Given the description of an element on the screen output the (x, y) to click on. 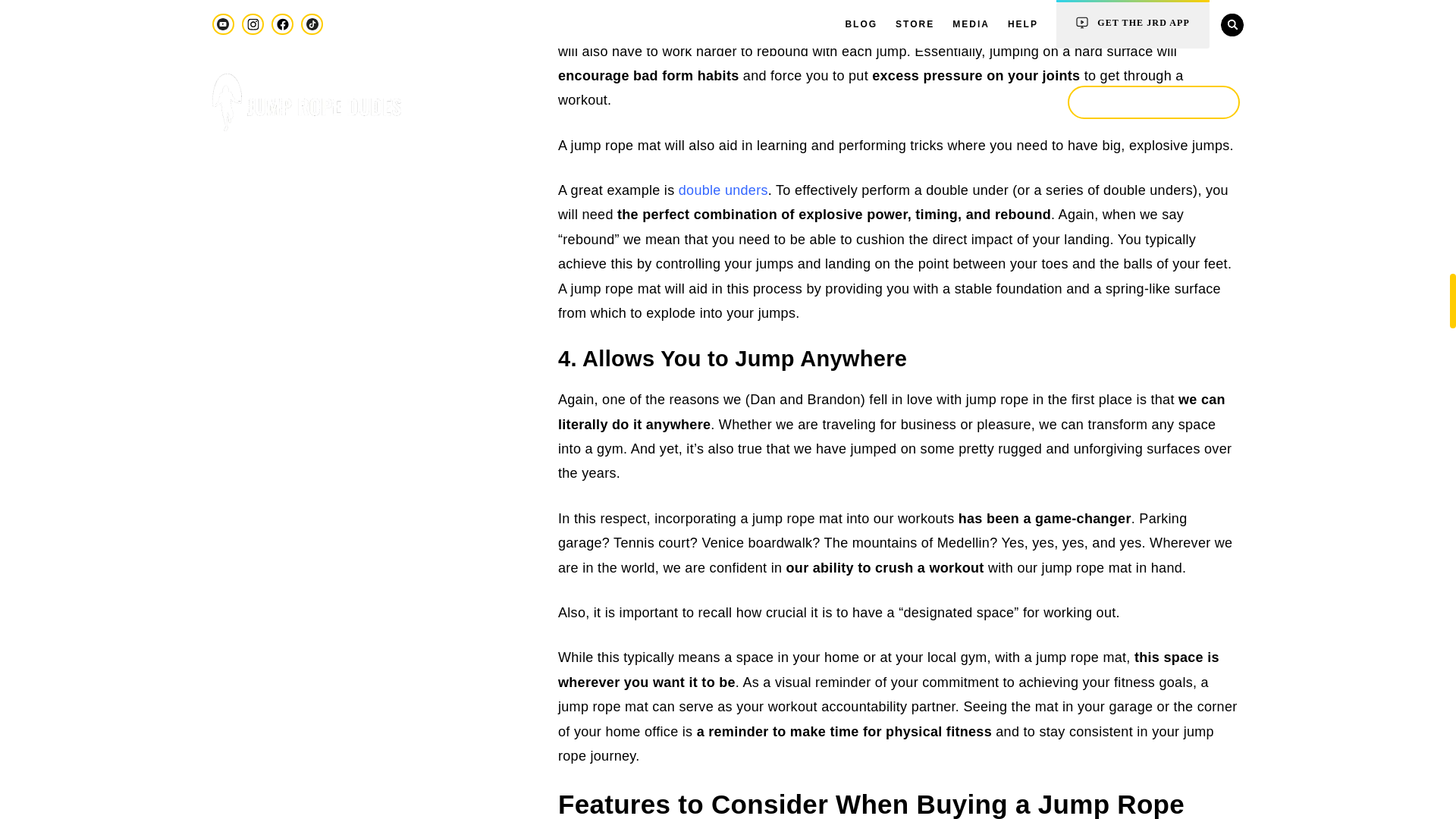
double unders (723, 190)
